Given the description of an element on the screen output the (x, y) to click on. 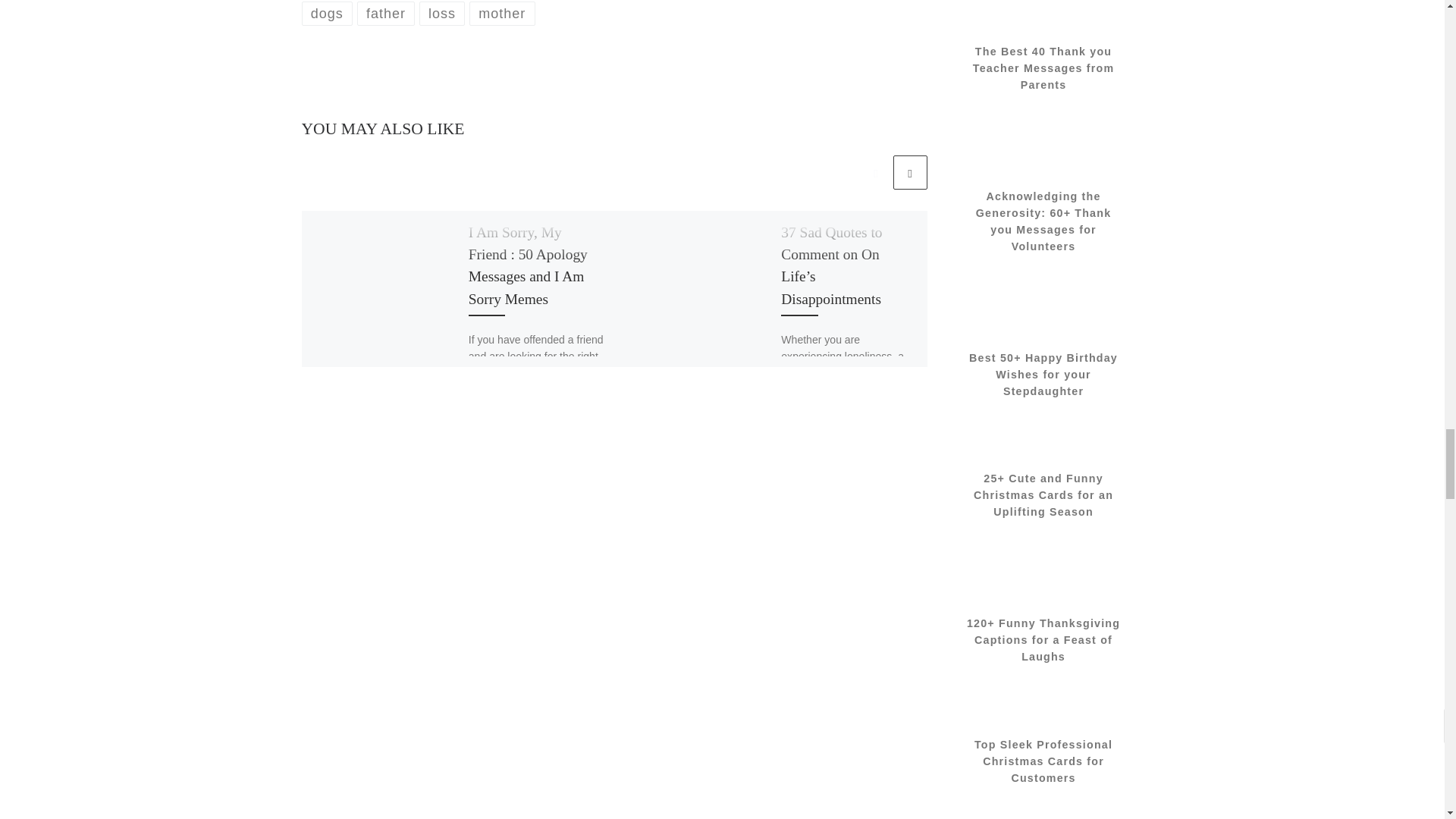
View all posts in dogs (327, 13)
View all posts in father (385, 13)
View all posts in mother (501, 13)
View all posts in loss (442, 13)
